Given the description of an element on the screen output the (x, y) to click on. 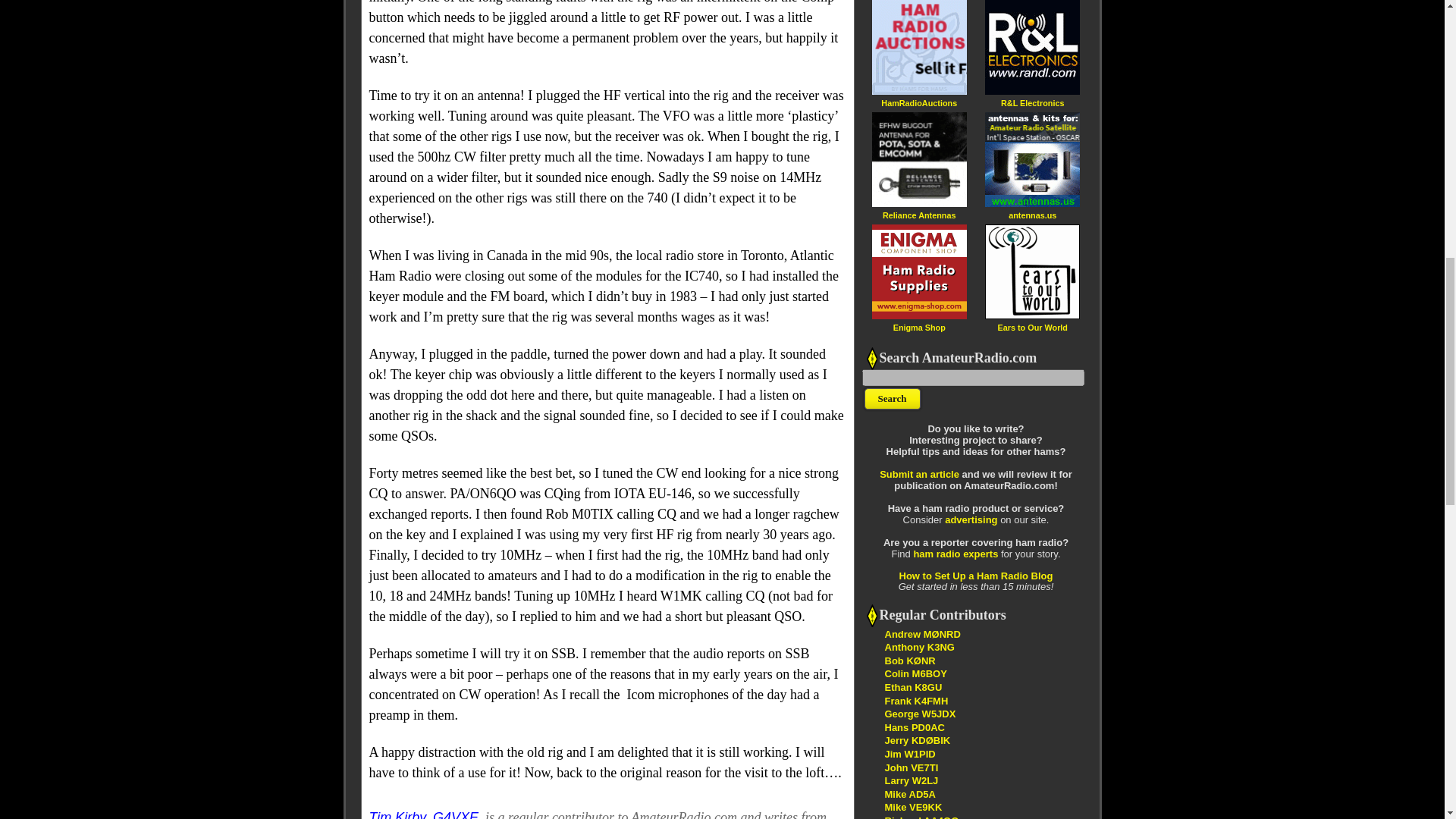
MY HAM RADIO EXPERIENCES (908, 794)
Enigma Shop (918, 326)
Entertain, Encourage, Educate and Inspire (916, 740)
Search (891, 398)
HamRadioAuctions (918, 102)
Lower your Power  Raise your Expectations (920, 816)
Reliance Antennas (918, 214)
Thoughts of a Dutch radio amateur (913, 727)
Tim Kirby, G4VXE (423, 814)
